Given the description of an element on the screen output the (x, y) to click on. 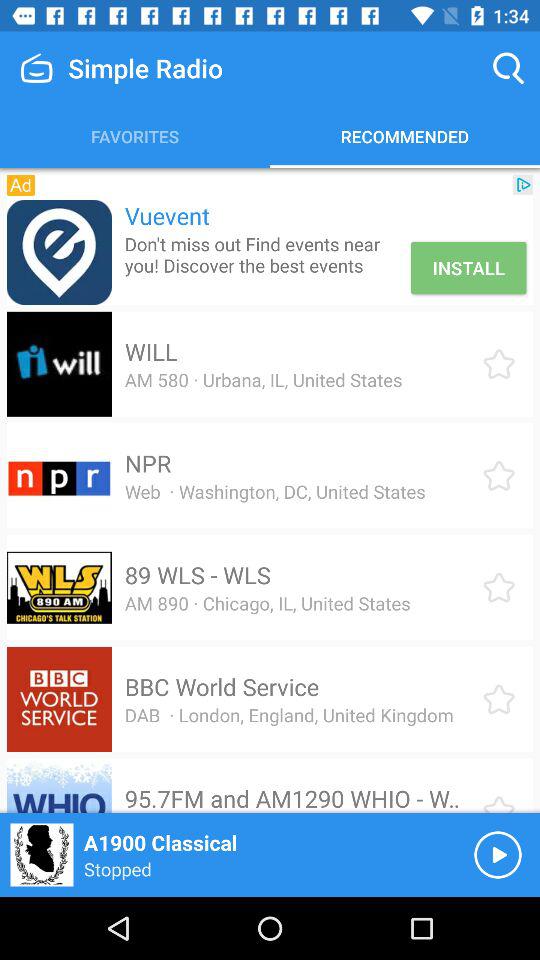
choose item above recommended icon (508, 67)
